Given the description of an element on the screen output the (x, y) to click on. 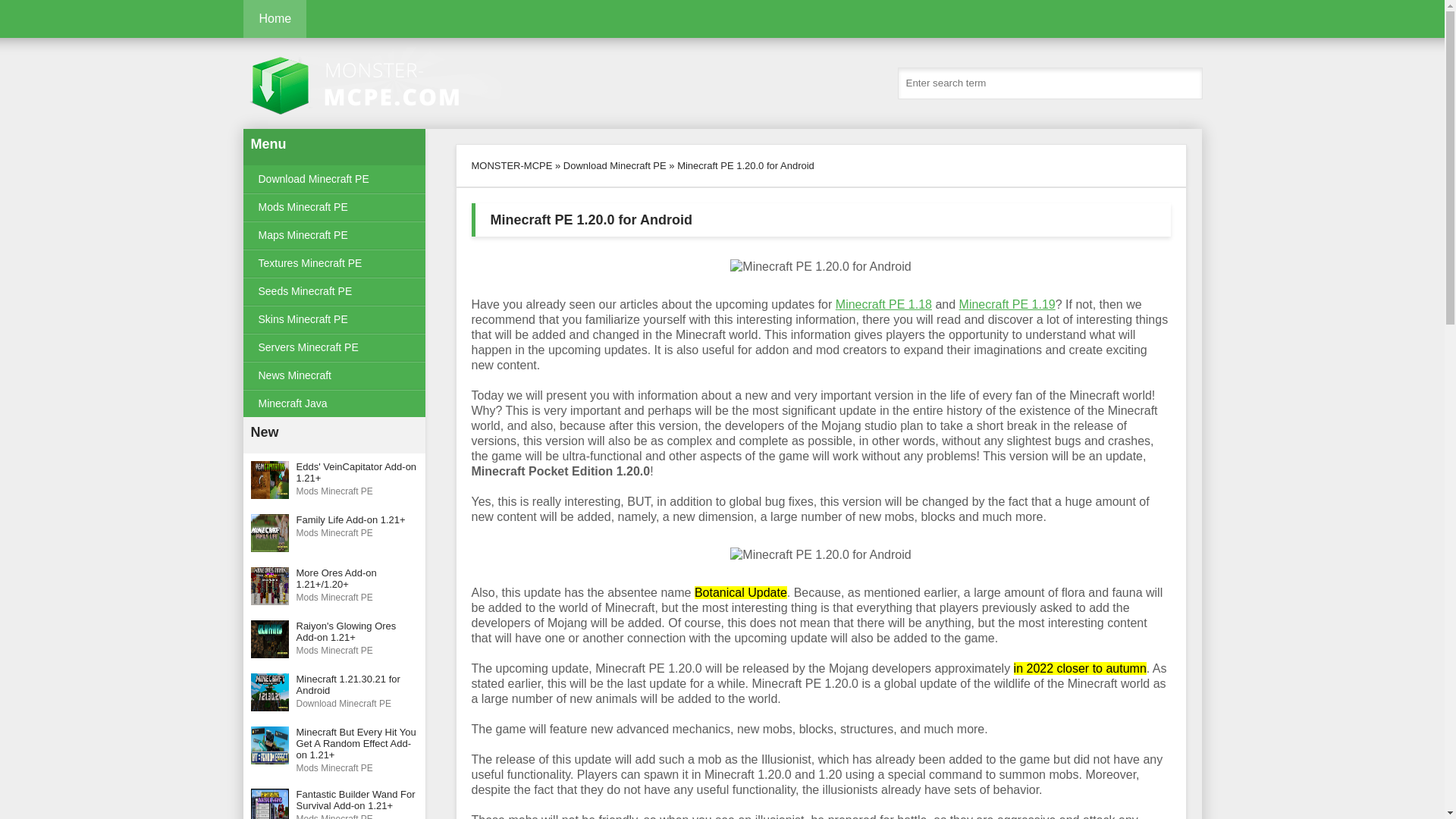
Minecraft PE 1.19 (1007, 304)
Maps Minecraft PE (334, 235)
News Minecraft (334, 375)
News Minecraft (334, 375)
Minecraft PE 1.18 (883, 304)
Seeds Minecraft PE (334, 291)
Download Minecraft PE (614, 165)
Download Minecraft PE (333, 692)
Seeds Minecraft PE (334, 179)
Minecraft Java (334, 291)
Home (334, 402)
Textures Minecraft PE (394, 83)
Download Minecraft Java Edition (334, 263)
Mods Minecraft PE (334, 402)
